Given the description of an element on the screen output the (x, y) to click on. 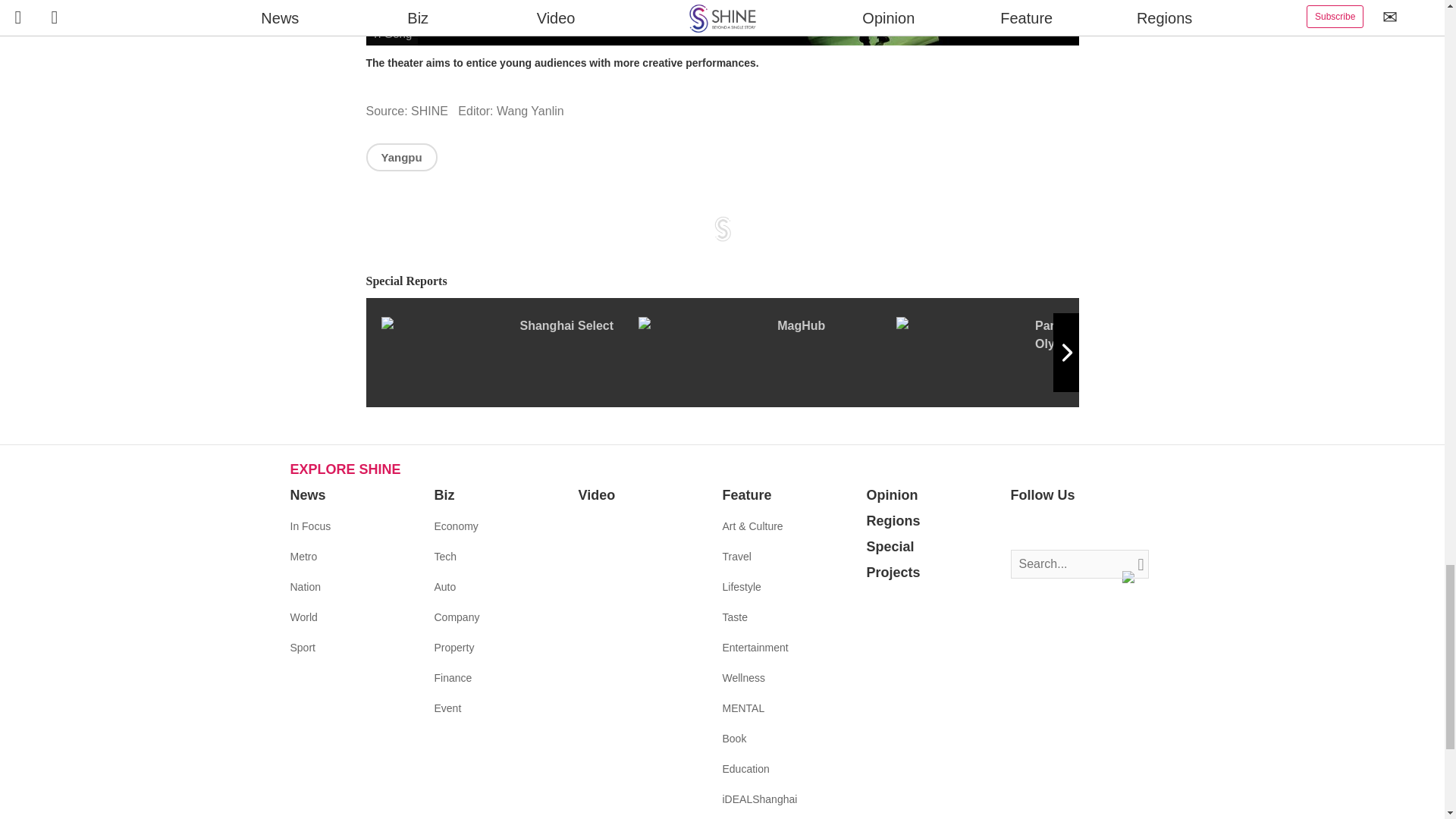
Metro (303, 556)
Follow us on Instagram (1067, 526)
Paris 2024 Olympics (1024, 352)
Special Reports (721, 281)
Follow us on Twitter (1044, 526)
Follow us on Wechat (1112, 526)
Nation (304, 586)
MagHub (767, 352)
Shanghai Select (508, 352)
Follow us on Youtube (1090, 526)
News (306, 494)
In Focus (309, 526)
Yangpu (400, 157)
Follow us on Facebook (1021, 526)
